Given the description of an element on the screen output the (x, y) to click on. 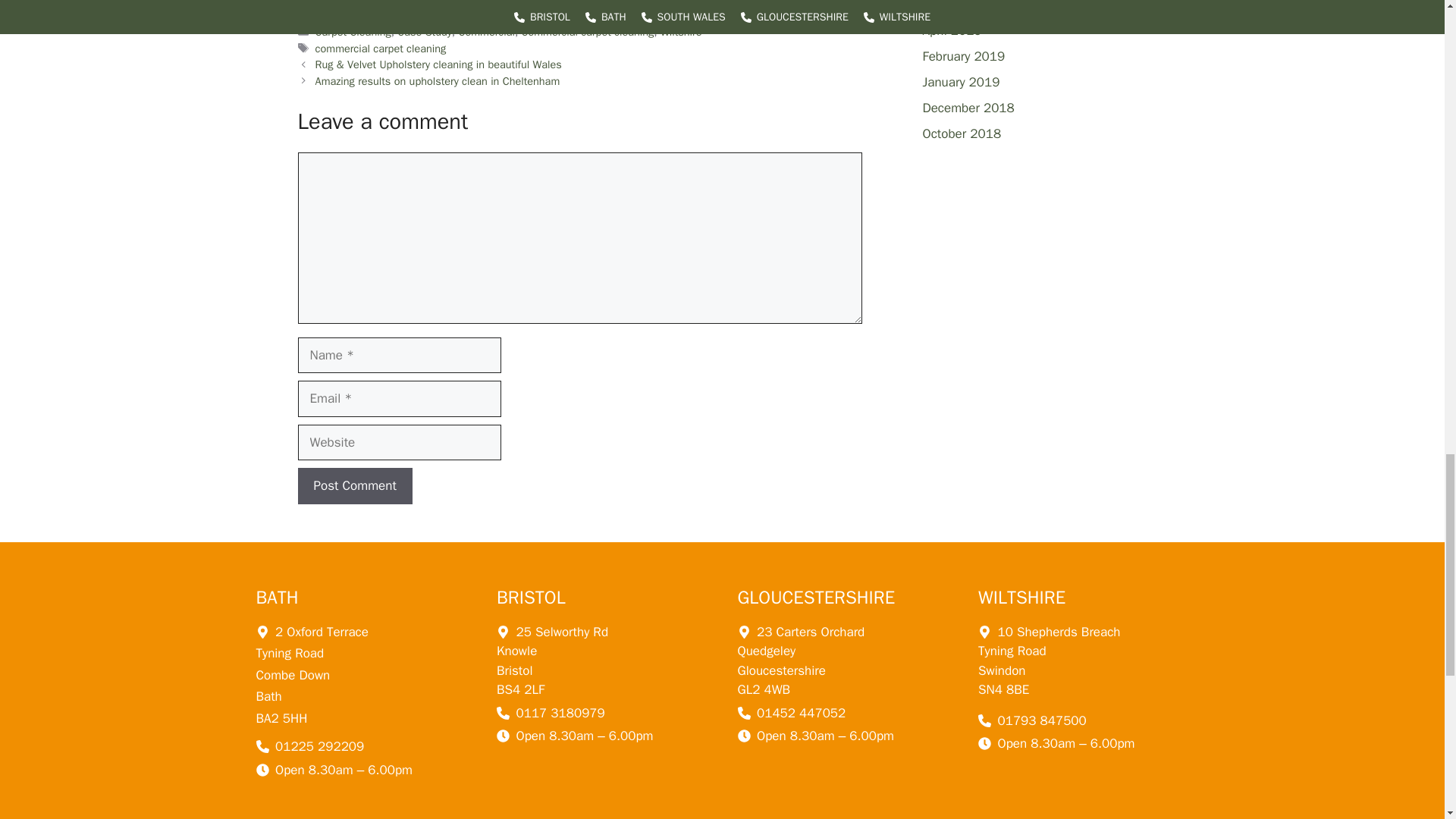
Post Comment (354, 485)
